Given the description of an element on the screen output the (x, y) to click on. 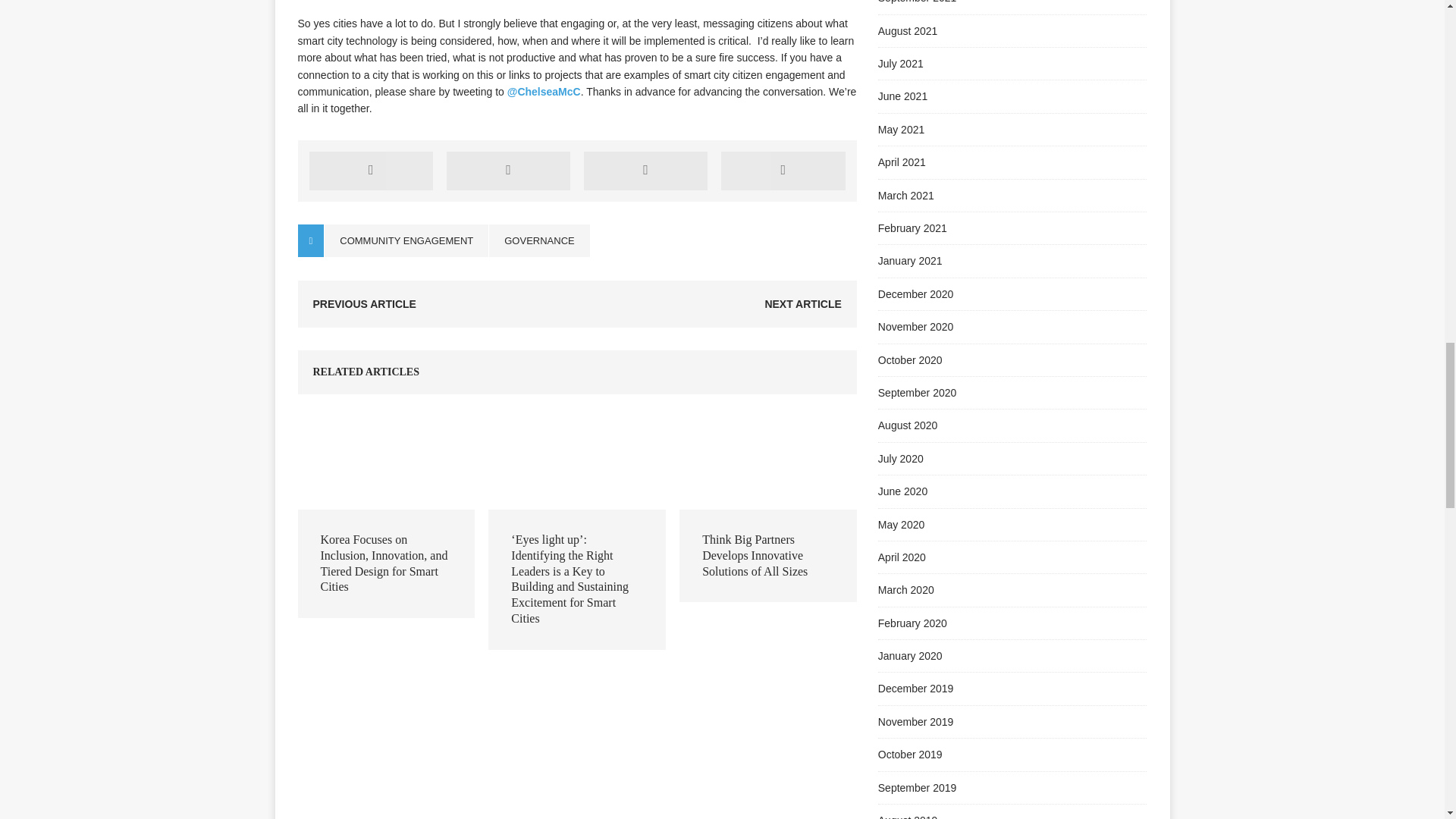
Pin This Post (645, 170)
Tweet This Post (508, 170)
Share on Facebook (370, 170)
